Given the description of an element on the screen output the (x, y) to click on. 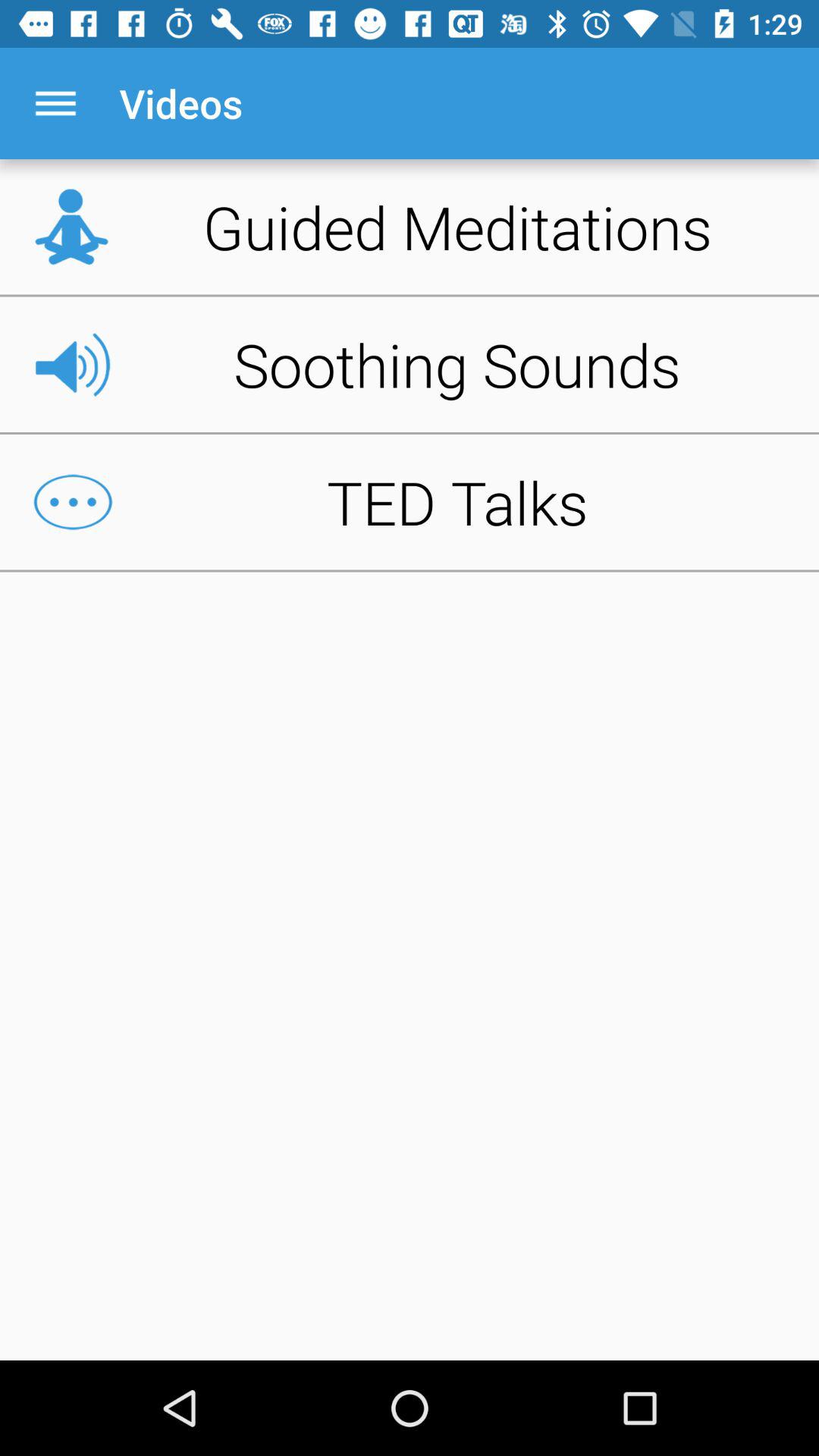
jump until guided meditations icon (409, 226)
